Given the description of an element on the screen output the (x, y) to click on. 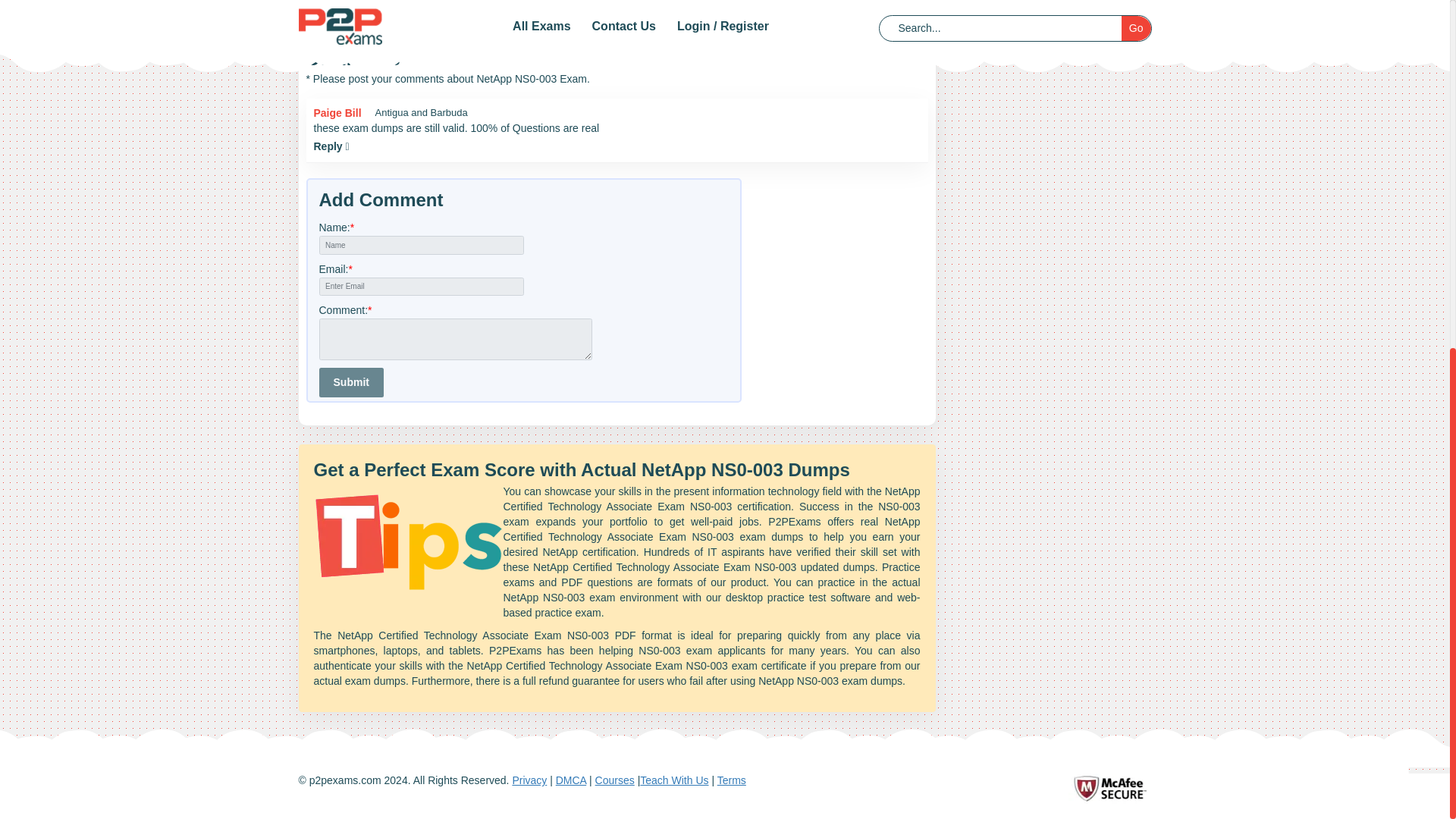
DMCA (571, 779)
Submit (350, 382)
Privacy (529, 779)
Teach With Us (673, 779)
Courses (614, 779)
Terms (731, 779)
